Given the description of an element on the screen output the (x, y) to click on. 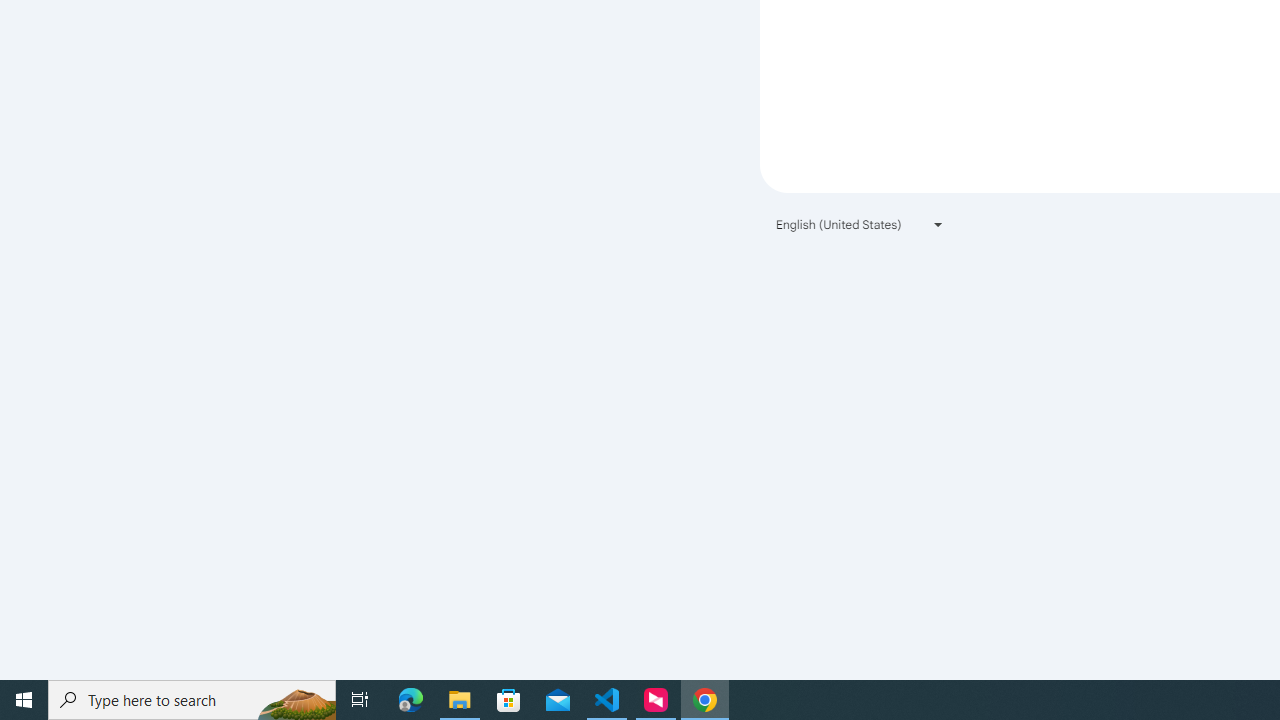
English (United States) (860, 224)
